Given the description of an element on the screen output the (x, y) to click on. 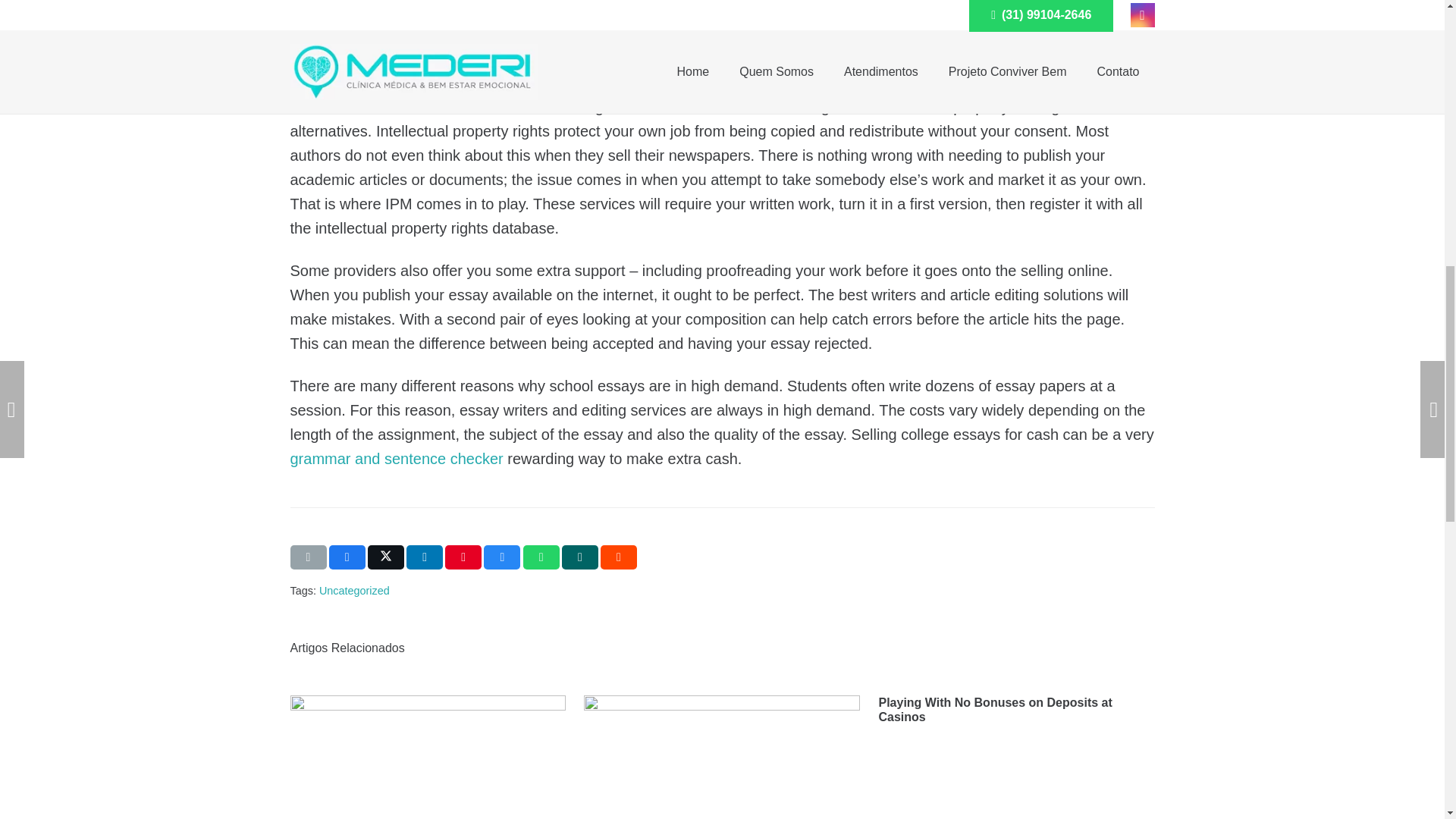
grammar and sentence checker (395, 458)
Compartilhar isso (618, 557)
Tweetar isso (386, 557)
Uncategorized (354, 590)
Enviar isto por e-mail (307, 557)
Voltar ao topo (1413, 26)
Compartilhar isso (347, 557)
Compartilhar isso (580, 557)
Compartilhar isso (424, 557)
Playing With No Bonuses on Deposits at Casinos (994, 709)
Pinar isso (463, 557)
Compartilhar isso (501, 557)
Compartilhar isso (540, 557)
